Given the description of an element on the screen output the (x, y) to click on. 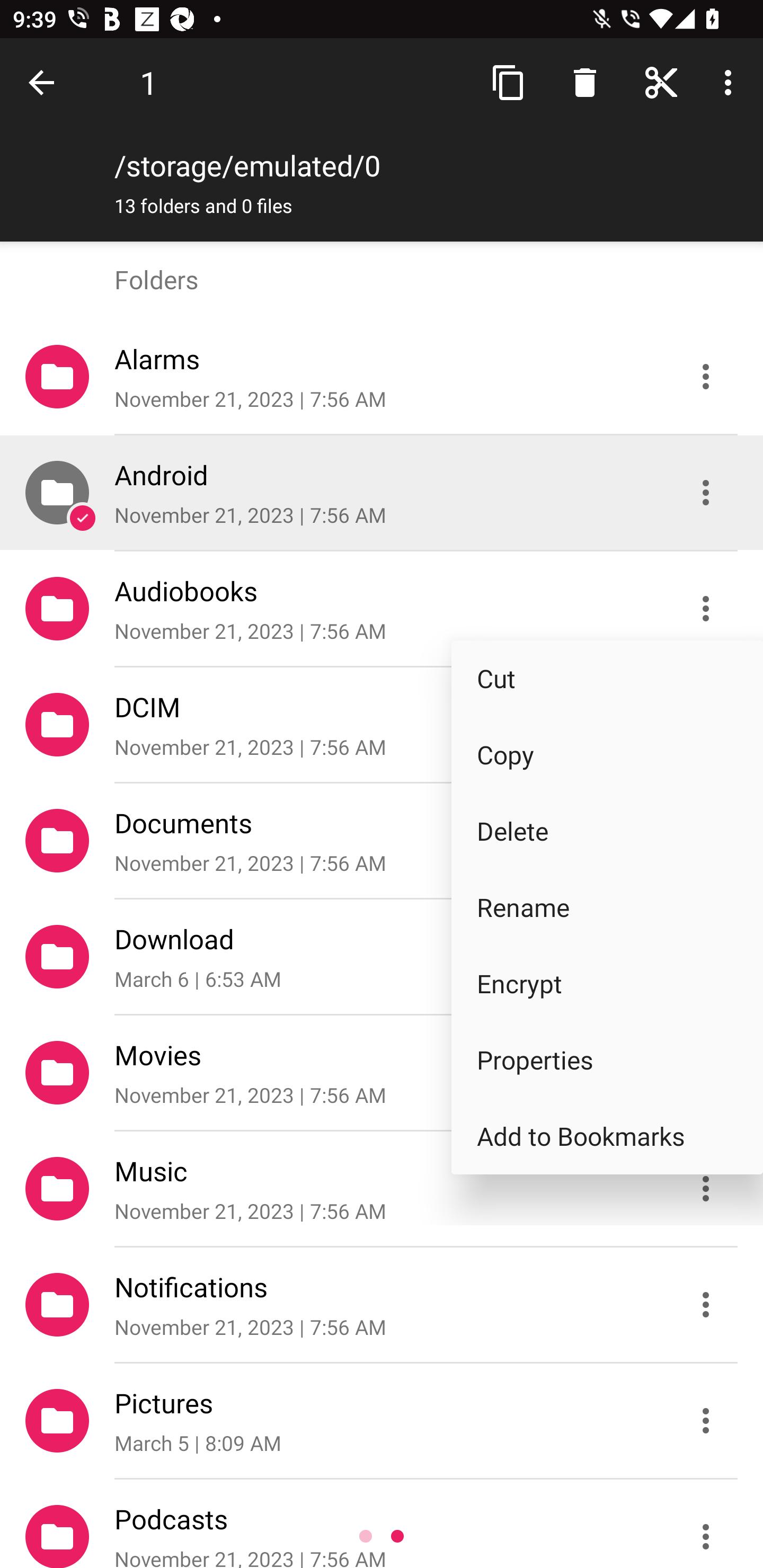
Cut (607, 677)
Copy (607, 754)
Delete (607, 830)
Rename (607, 906)
Encrypt (607, 983)
Properties (607, 1059)
Add to Bookmarks (607, 1135)
